Given the description of an element on the screen output the (x, y) to click on. 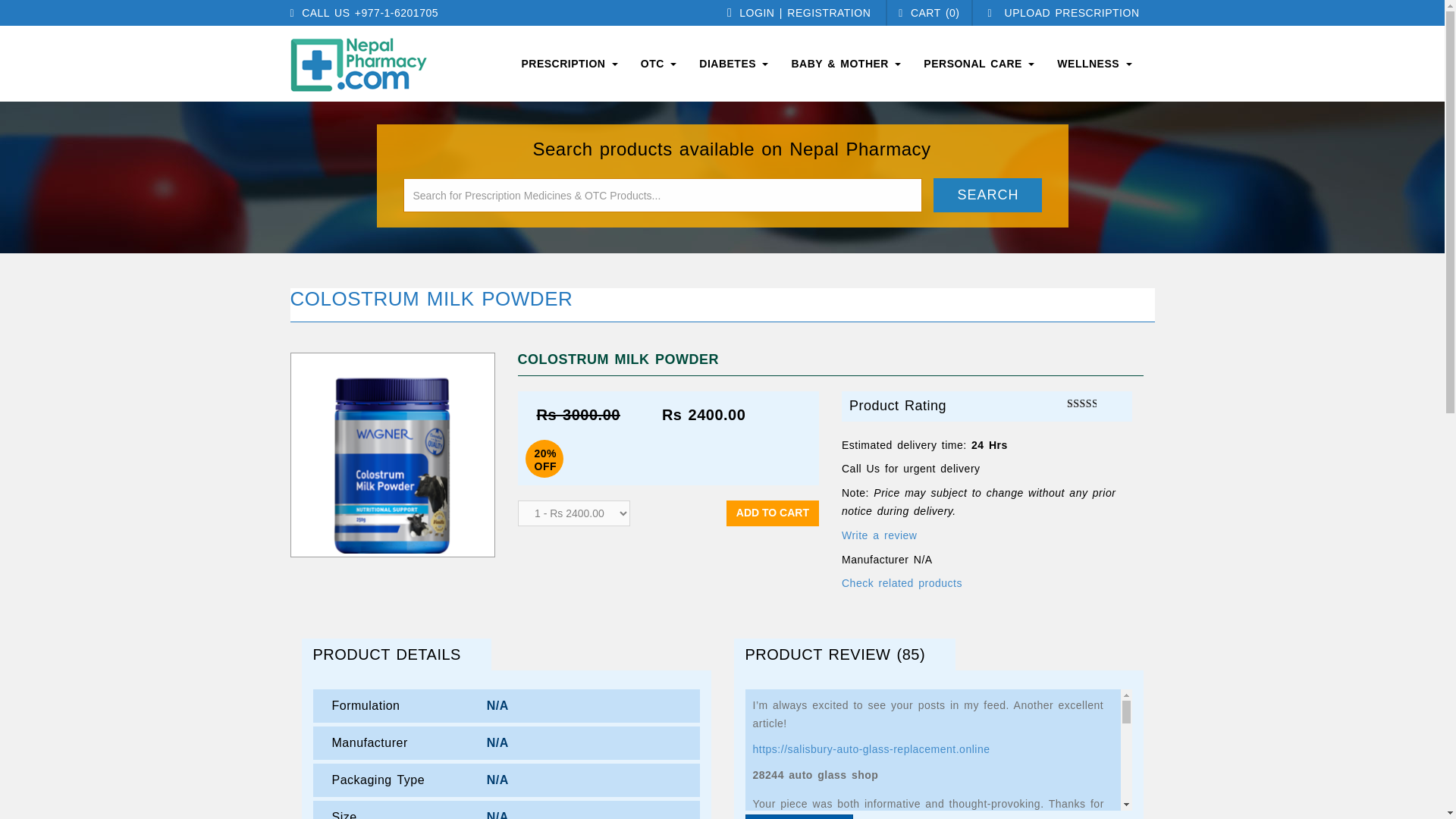
UPLOAD PRESCRIPTION (1062, 12)
Check related products (901, 582)
Search (987, 195)
PRESCRIPTION (568, 63)
PRESCRIPTION (568, 63)
View your shopping cart (928, 12)
